Given the description of an element on the screen output the (x, y) to click on. 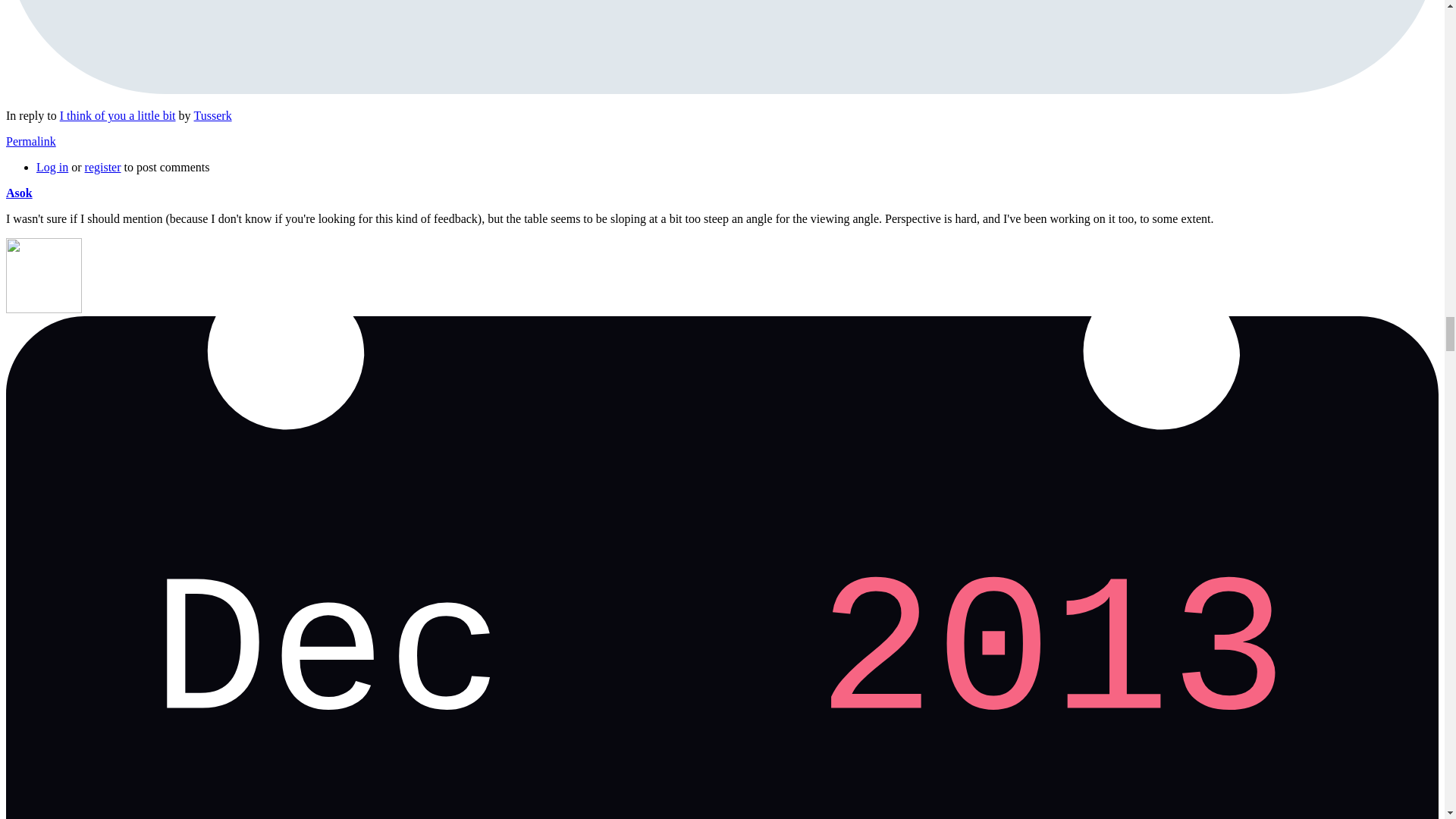
View user profile. (18, 192)
I think of you a little bit (117, 115)
View user profile. (212, 115)
register (102, 166)
Tusserk (212, 115)
Log in (52, 166)
Permalink (30, 141)
Asok (18, 192)
